Given the description of an element on the screen output the (x, y) to click on. 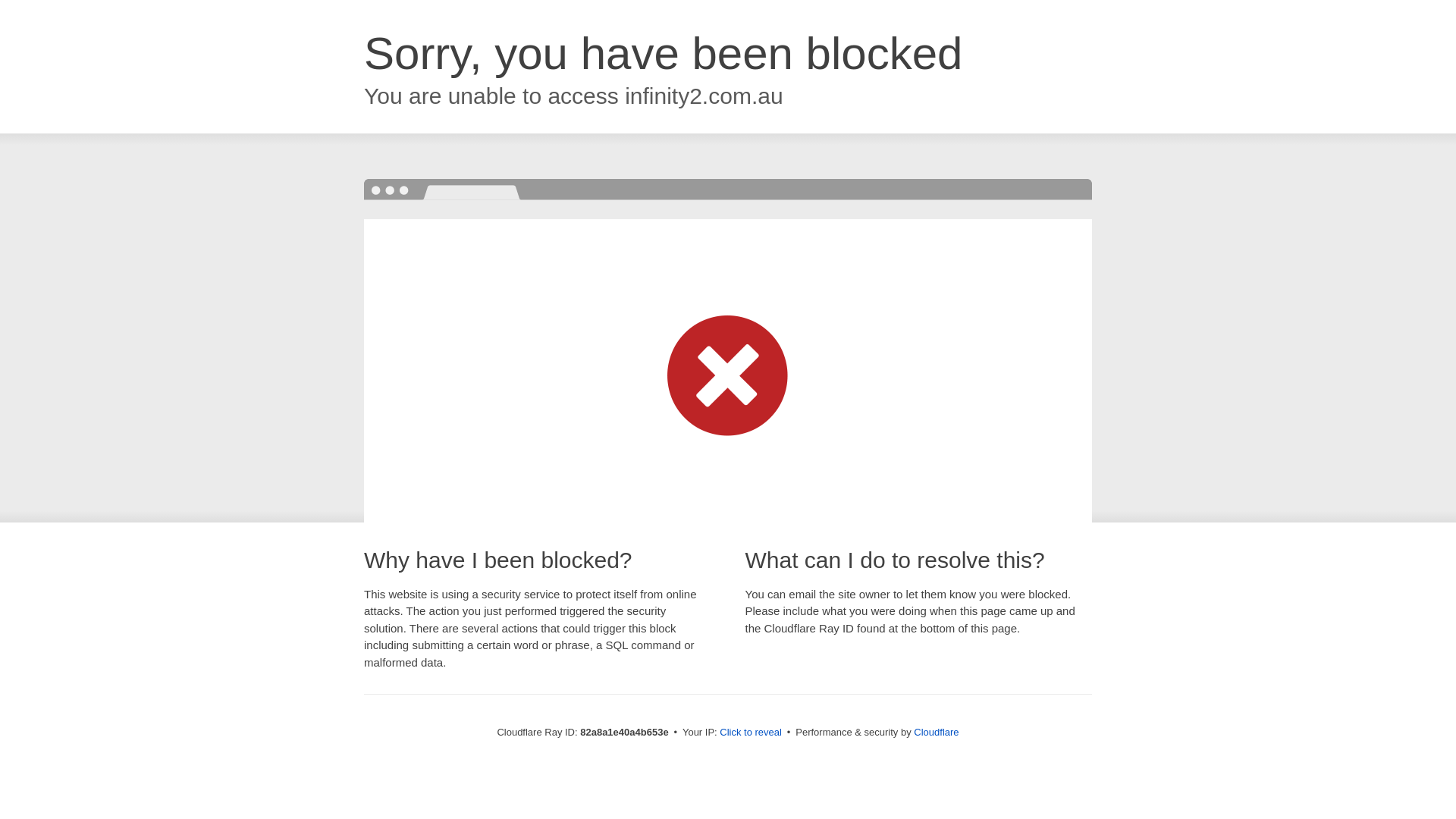
Cloudflare Element type: text (935, 731)
Click to reveal Element type: text (750, 732)
